Given the description of an element on the screen output the (x, y) to click on. 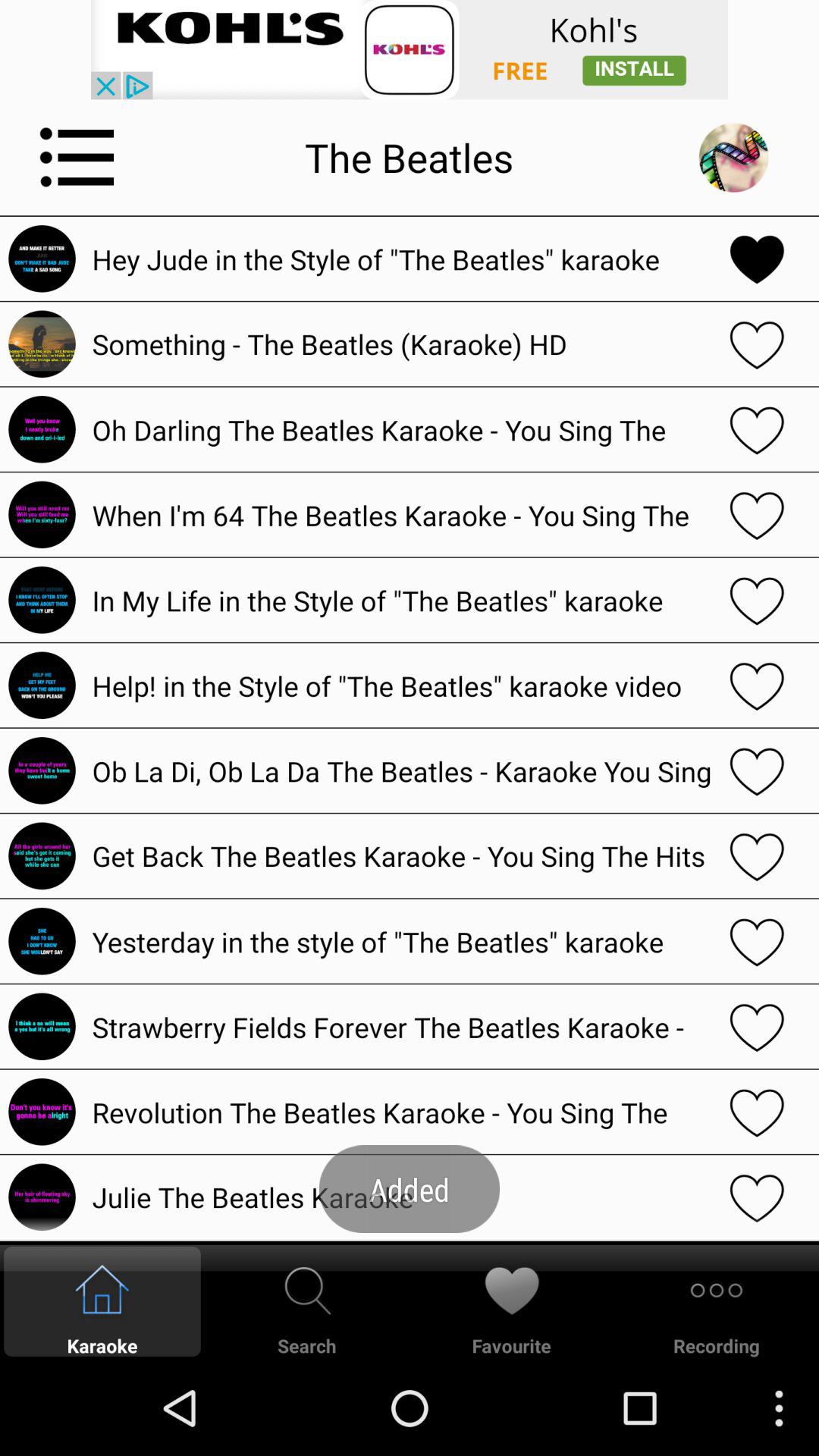
favorite (756, 770)
